Given the description of an element on the screen output the (x, y) to click on. 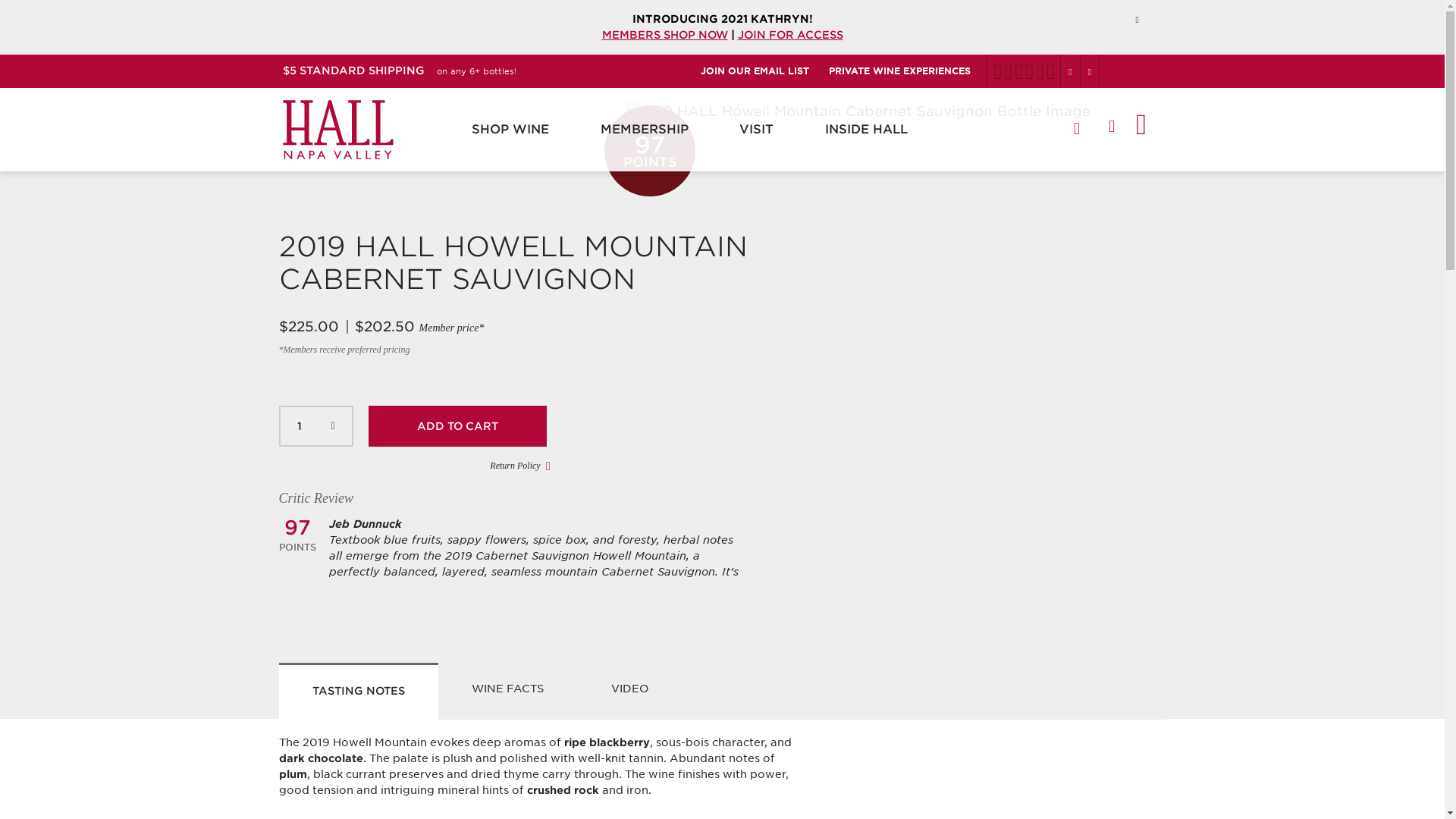
JOIN OUR EMAIL LIST (762, 70)
MEMBERS SHOP NOW (665, 34)
Add to Cart (457, 425)
HALL Wines of Napa Valley (337, 129)
MEMBERSHIP (643, 129)
PRIVATE WINE EXPERIENCES (906, 70)
SHOP WINE (510, 129)
JOIN FOR ACCESS (789, 34)
1 (316, 425)
INSIDE HALL (865, 129)
